Given the description of an element on the screen output the (x, y) to click on. 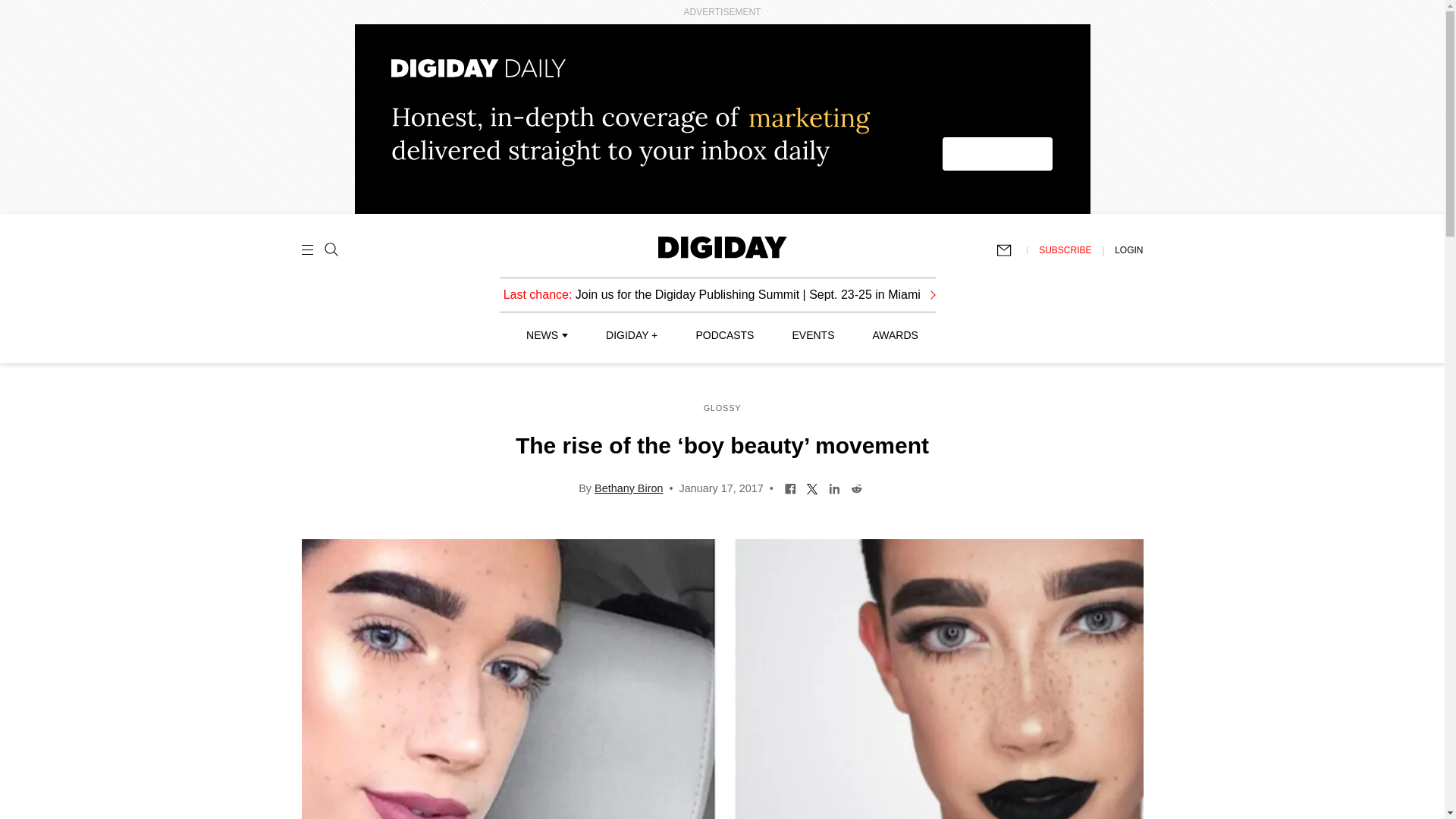
Share on Reddit (856, 487)
Subscribe (1010, 250)
NEWS (546, 335)
EVENTS (813, 335)
Share on LinkedIn (834, 487)
PODCASTS (725, 335)
Share on Twitter (812, 487)
AWARDS (894, 335)
Share on Facebook (790, 487)
